Given the description of an element on the screen output the (x, y) to click on. 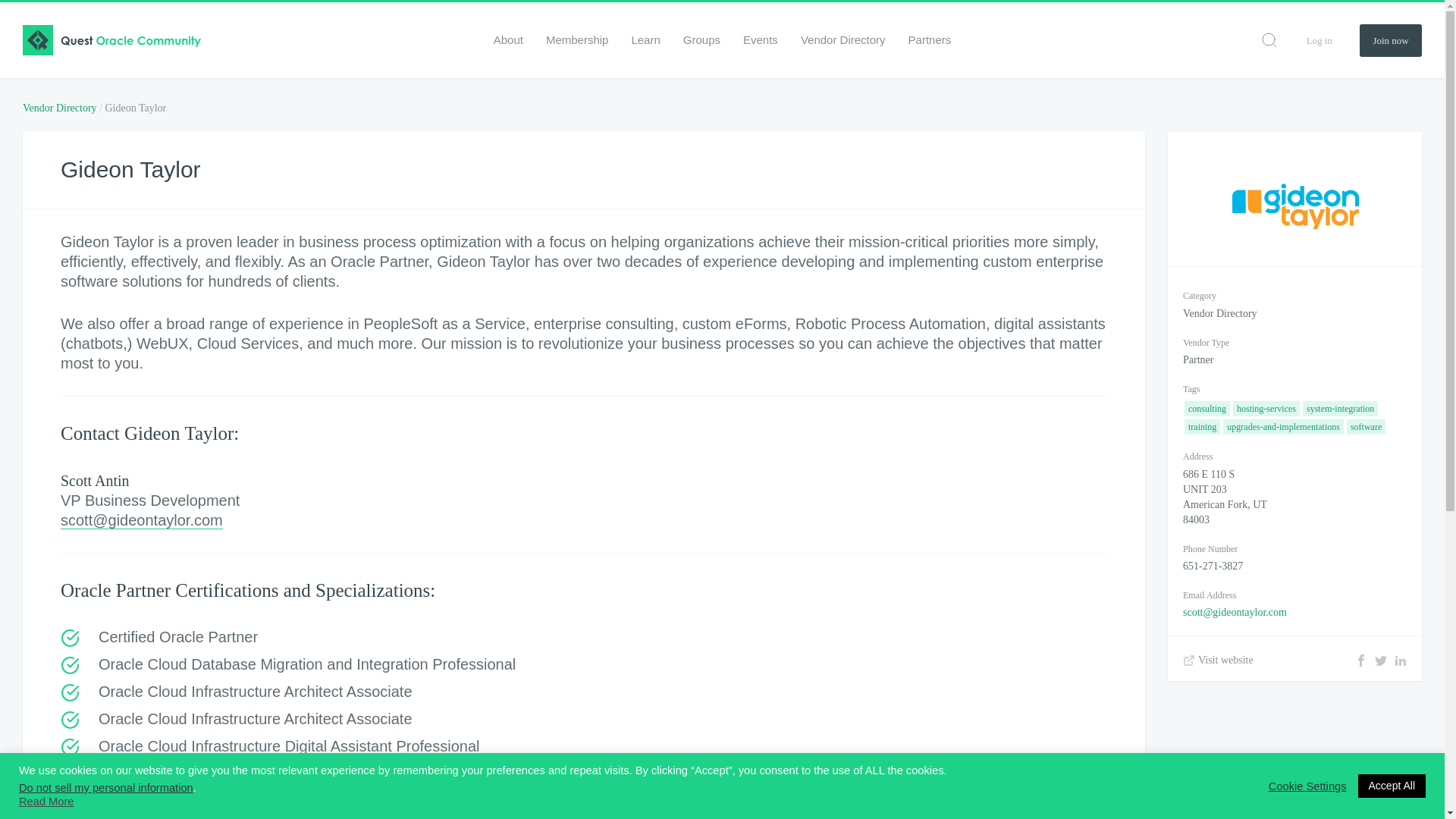
Visit website (1217, 659)
Go to the vendor directory (61, 107)
About (507, 39)
Vendor Directory (842, 39)
Membership (577, 39)
training (1202, 426)
system-integration (1340, 408)
Read More (46, 801)
Do not sell my personal information (105, 787)
Quest Oracle Community (111, 40)
Log in (1318, 39)
consulting (1207, 408)
Partners (930, 39)
Join now (1390, 40)
upgrades-and-implementations (1283, 426)
